Given the description of an element on the screen output the (x, y) to click on. 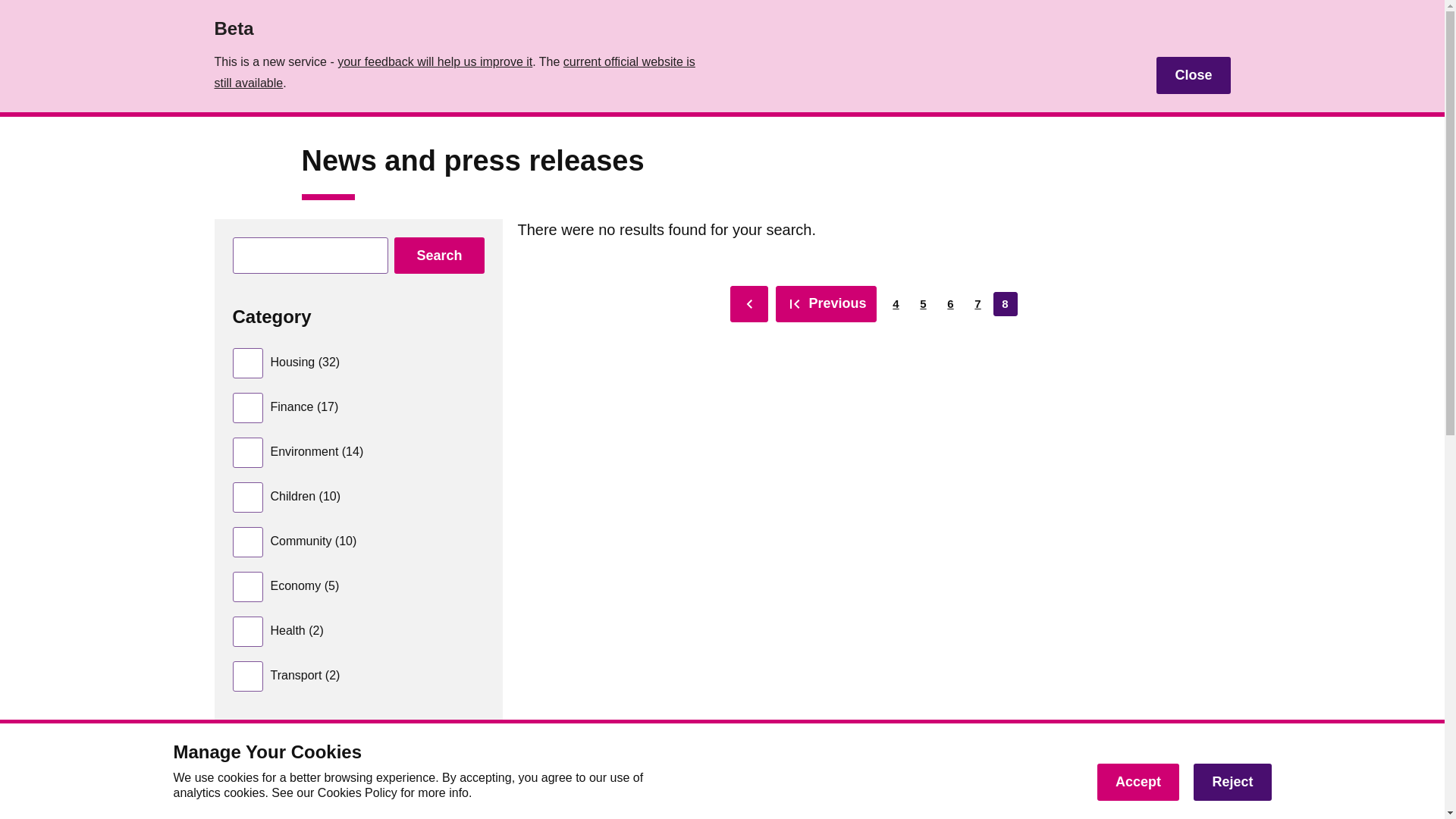
Go to previous page (826, 303)
current official website is still available (454, 72)
Who we are (443, 38)
Search (438, 255)
Home (895, 303)
Close (230, 92)
Contact us (978, 303)
What we do (923, 303)
Go to page 7 (950, 303)
Go to page 5 (1193, 75)
